Given the description of an element on the screen output the (x, y) to click on. 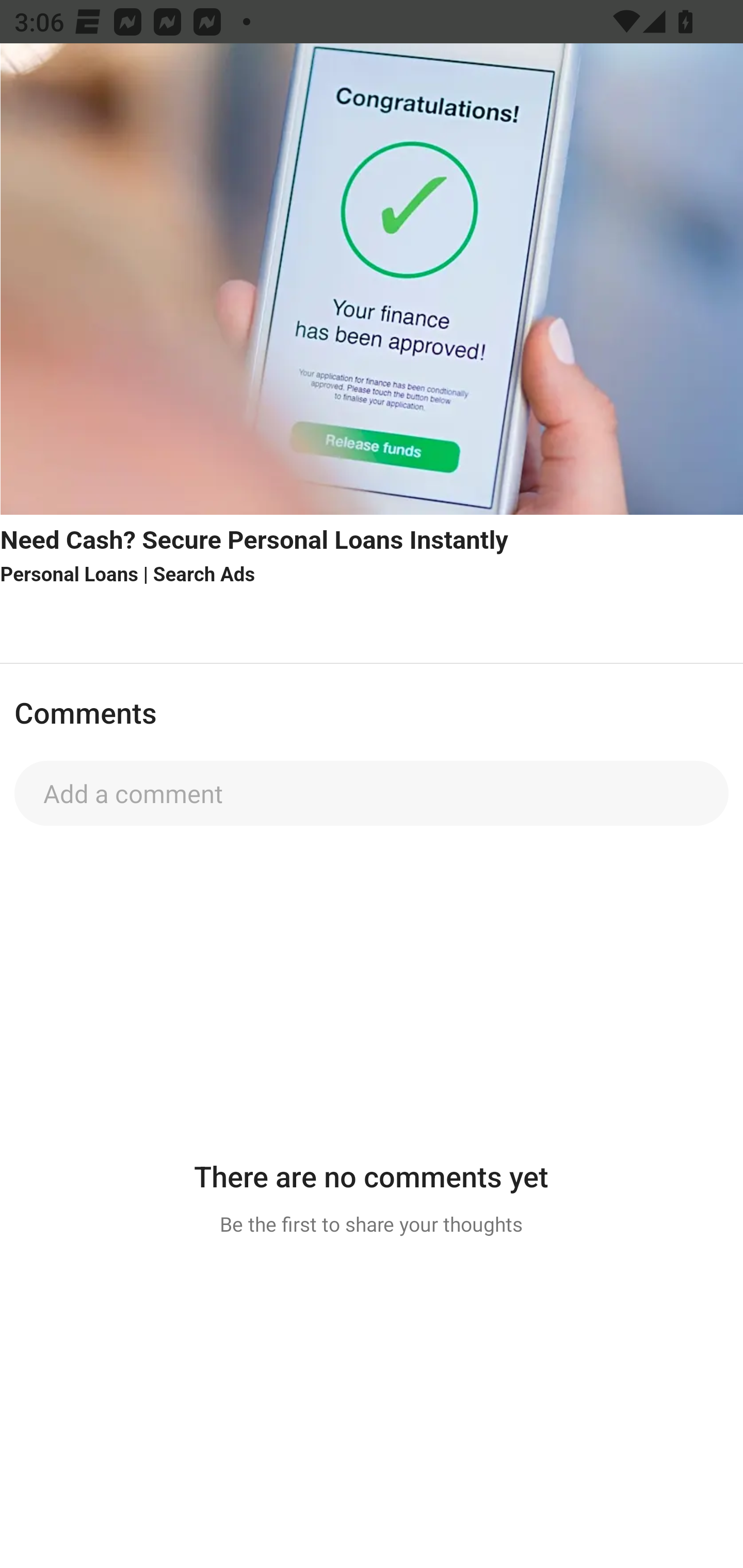
Add a comment (371, 793)
